Given the description of an element on the screen output the (x, y) to click on. 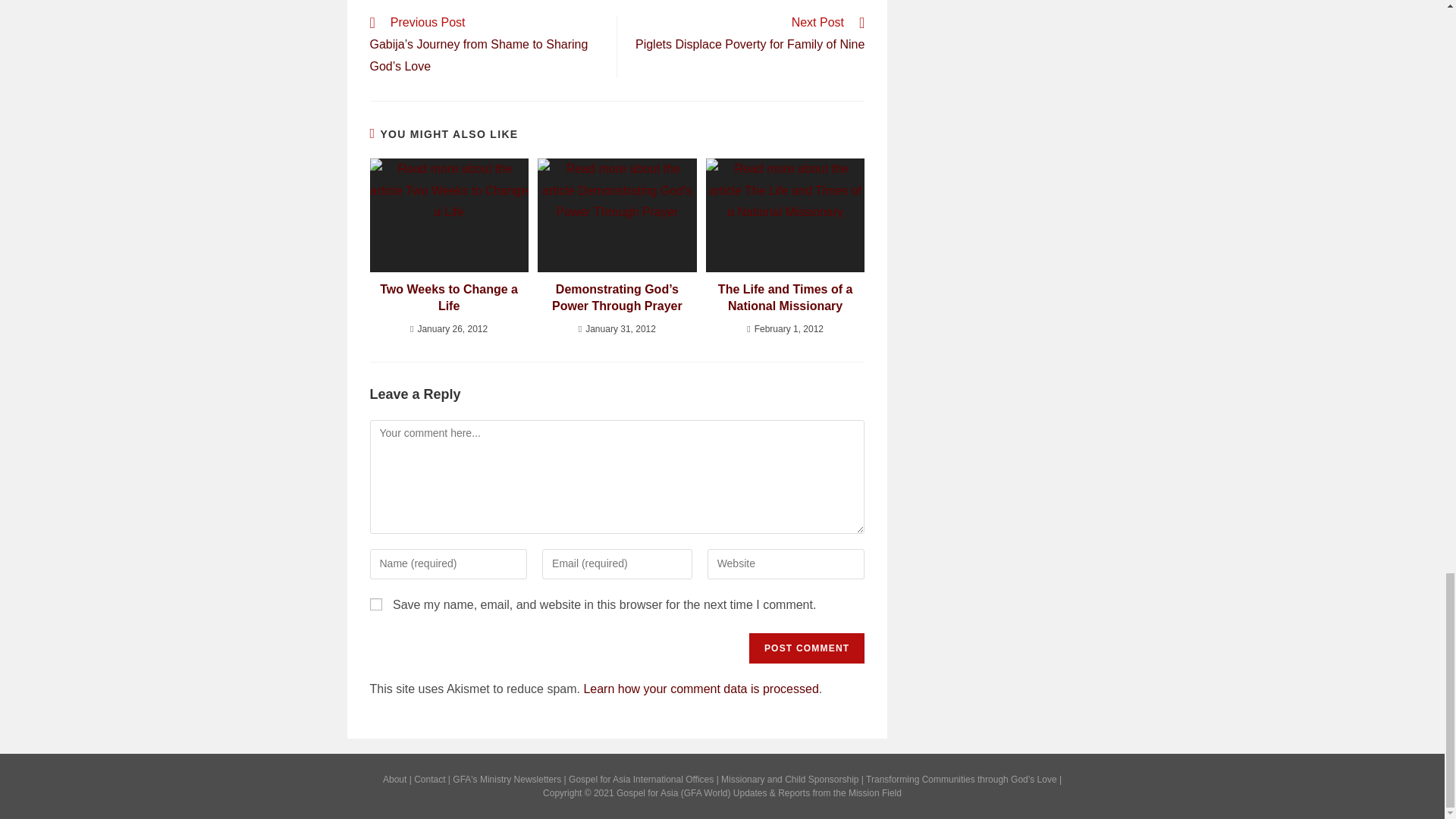
Gospel for Asia International Offices (641, 778)
yes (375, 604)
Post Comment (806, 648)
